Given the description of an element on the screen output the (x, y) to click on. 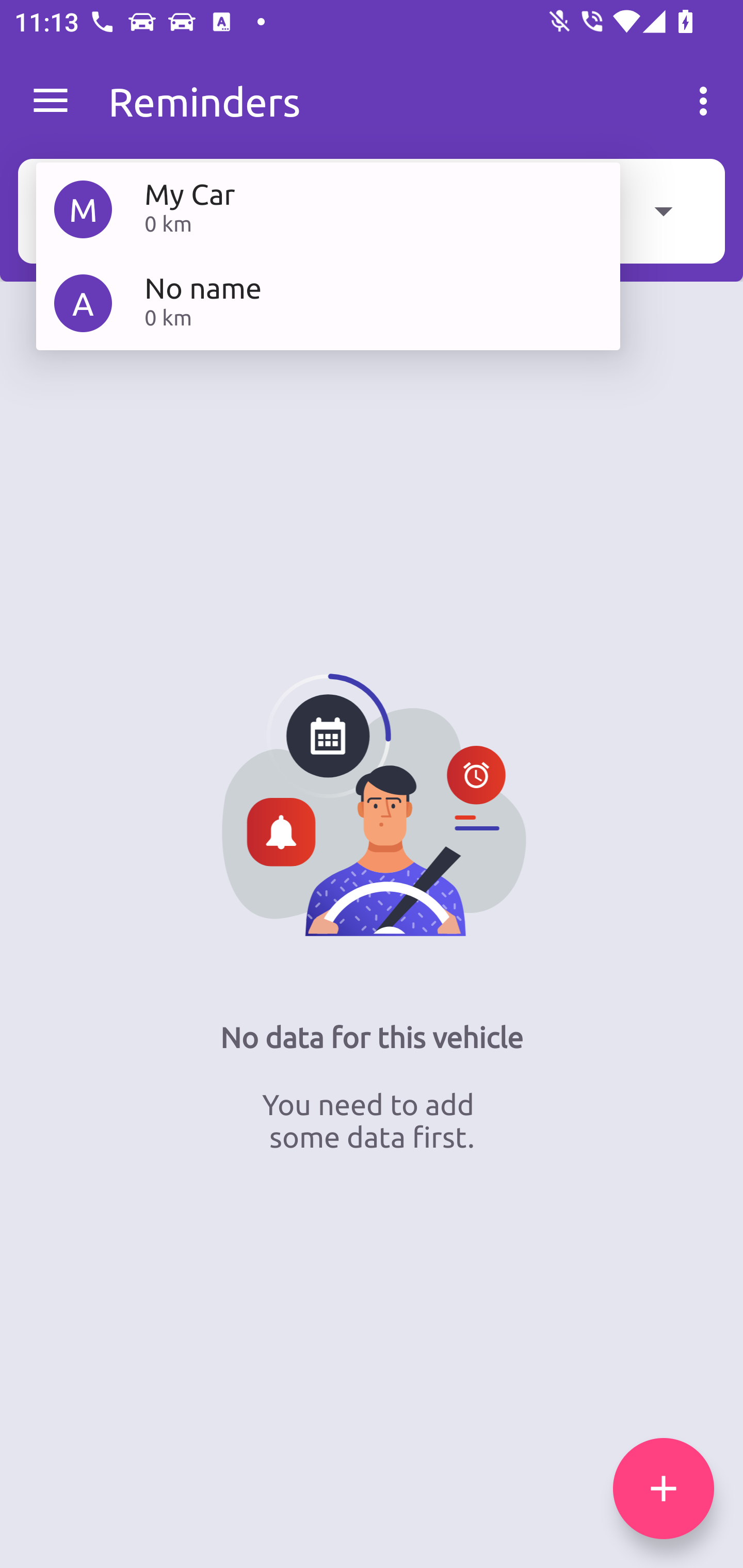
M My Car 0 km (328, 209)
A No name 0 km (328, 302)
